Given the description of an element on the screen output the (x, y) to click on. 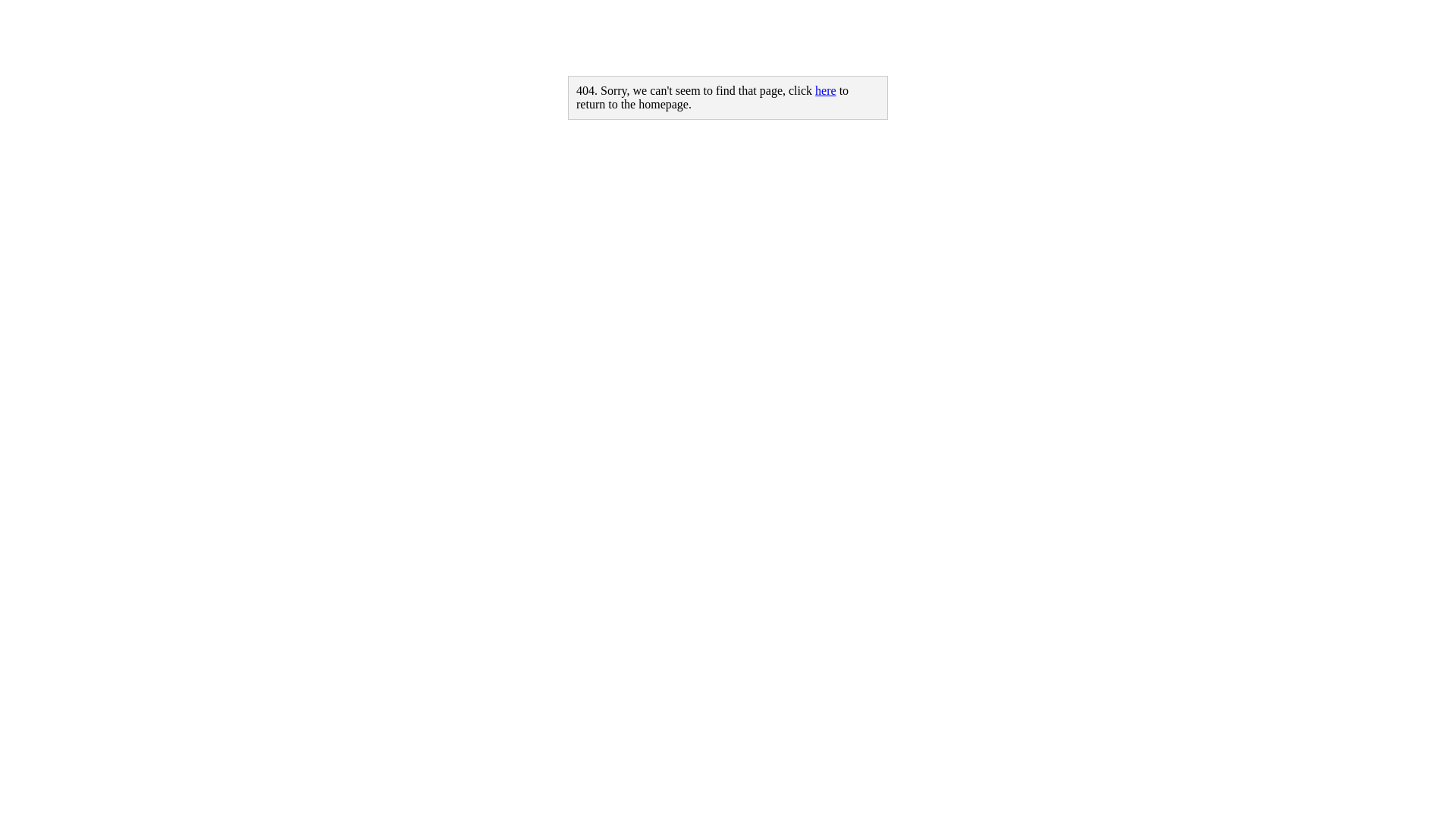
here Element type: text (825, 90)
